Given the description of an element on the screen output the (x, y) to click on. 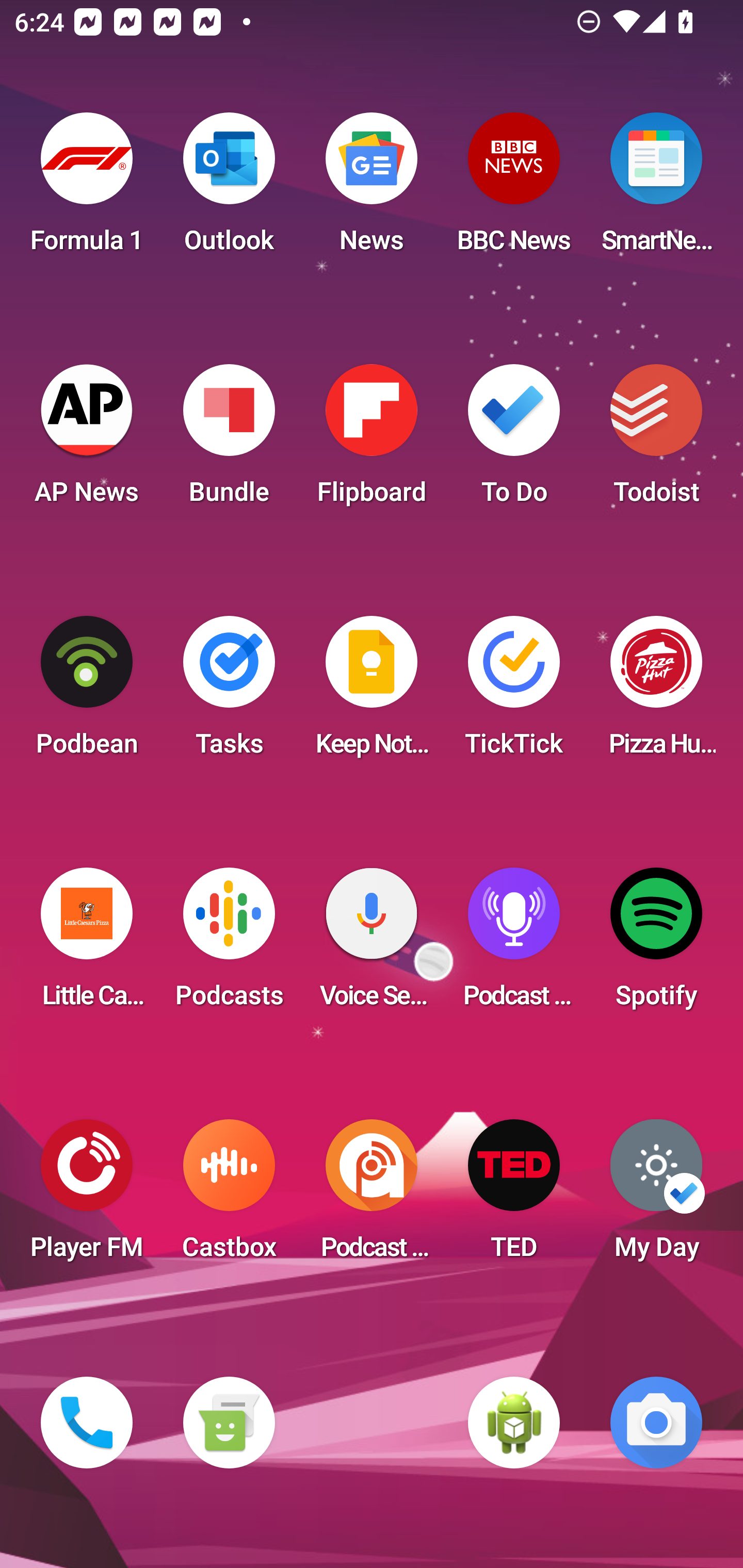
Formula 1 (86, 188)
Outlook (228, 188)
News (371, 188)
BBC News (513, 188)
SmartNews (656, 188)
AP News (86, 440)
Bundle (228, 440)
Flipboard (371, 440)
To Do (513, 440)
Todoist (656, 440)
Podbean (86, 692)
Tasks (228, 692)
Keep Notes (371, 692)
TickTick (513, 692)
Pizza Hut HK & Macau (656, 692)
Little Caesars Pizza (86, 943)
Podcasts (228, 943)
Voice Search (371, 943)
Podcast Player (513, 943)
Spotify (656, 943)
Player FM (86, 1195)
Castbox (228, 1195)
Podcast Addict (371, 1195)
TED (513, 1195)
My Day (656, 1195)
Phone (86, 1422)
Messaging (228, 1422)
WebView Browser Tester (513, 1422)
Camera (656, 1422)
